Given the description of an element on the screen output the (x, y) to click on. 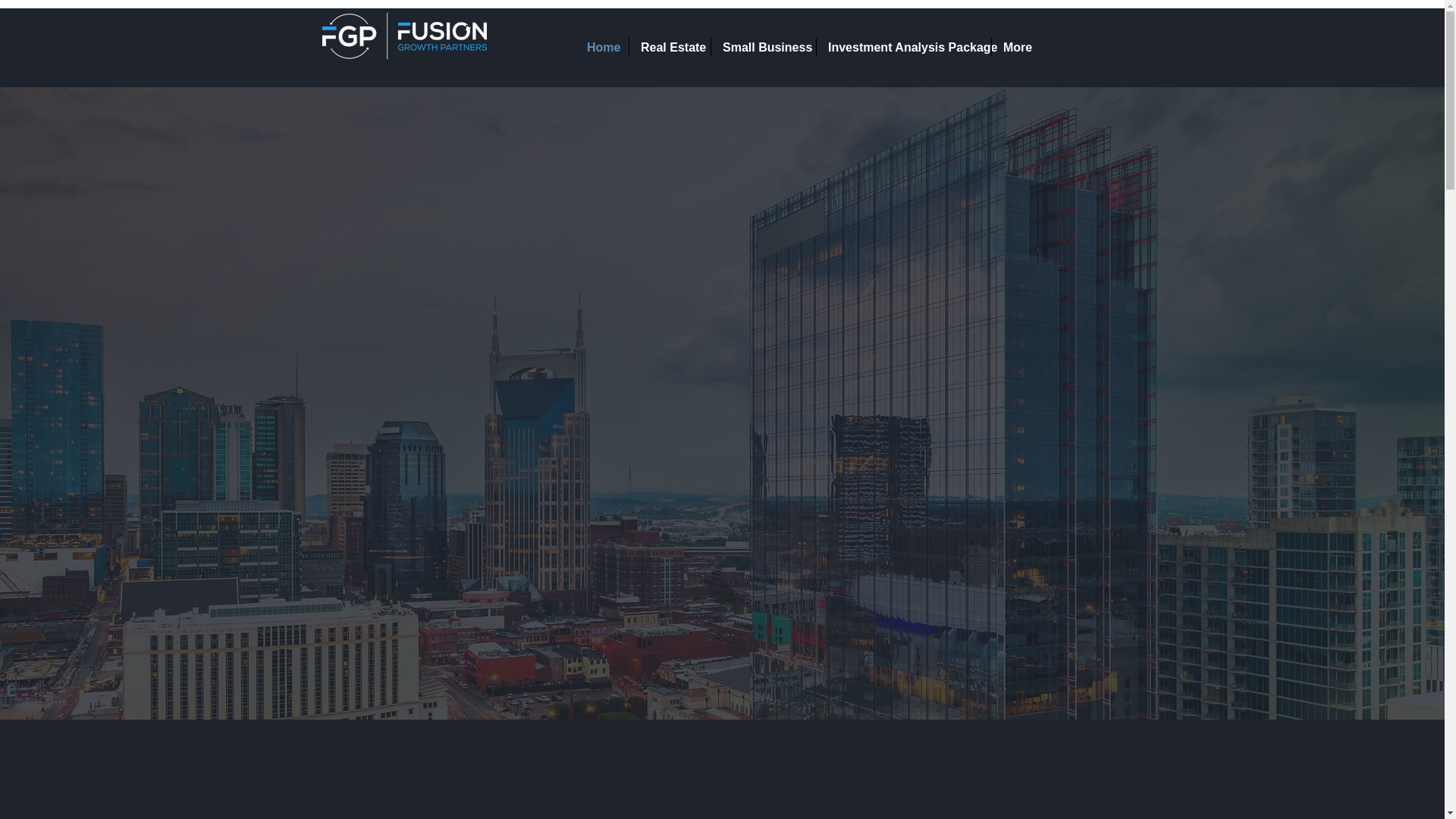
Investment Analysis Package (903, 46)
Home (601, 46)
Small Business (763, 46)
Real Estate (669, 46)
